Given the description of an element on the screen output the (x, y) to click on. 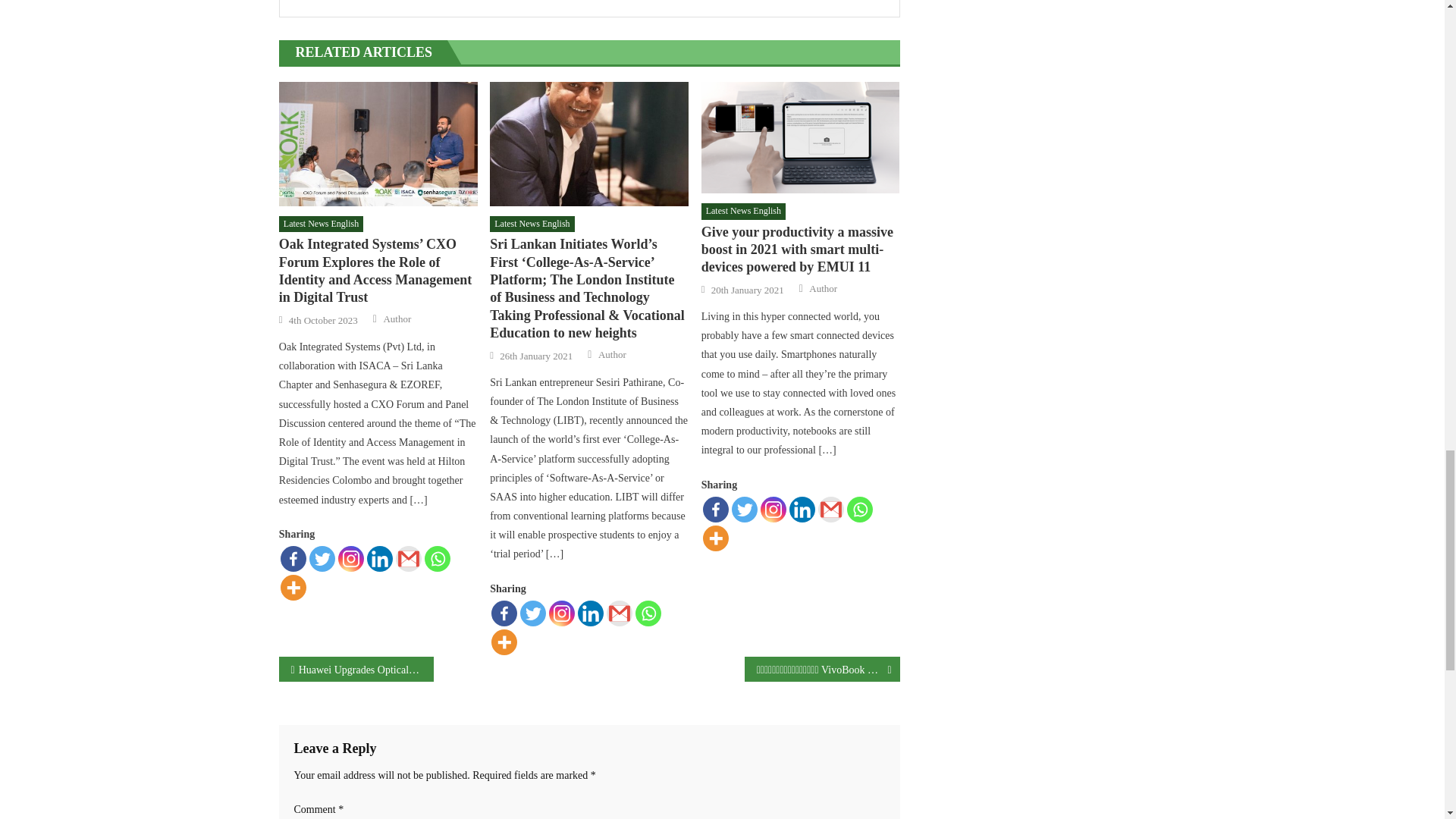
4th October 2023 (323, 320)
Whatsapp (437, 558)
Latest News English (320, 224)
More (293, 587)
Linkedin (379, 558)
Google Gmail (409, 558)
Facebook (293, 558)
Instagram (350, 558)
Twitter (321, 558)
Author (396, 318)
